Given the description of an element on the screen output the (x, y) to click on. 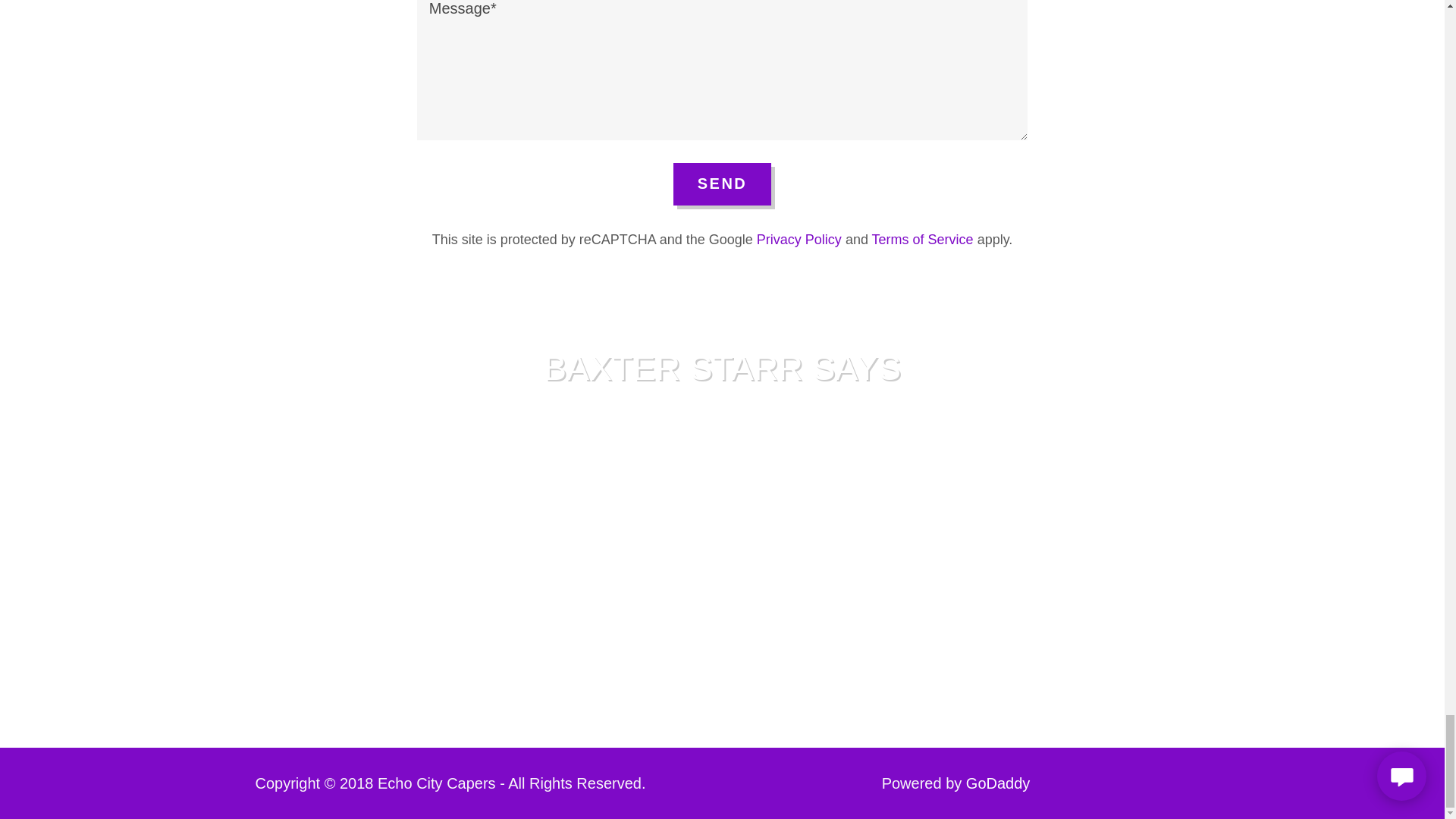
SEND (721, 183)
Privacy Policy (799, 239)
Terms of Service (923, 239)
GoDaddy (998, 782)
